Given the description of an element on the screen output the (x, y) to click on. 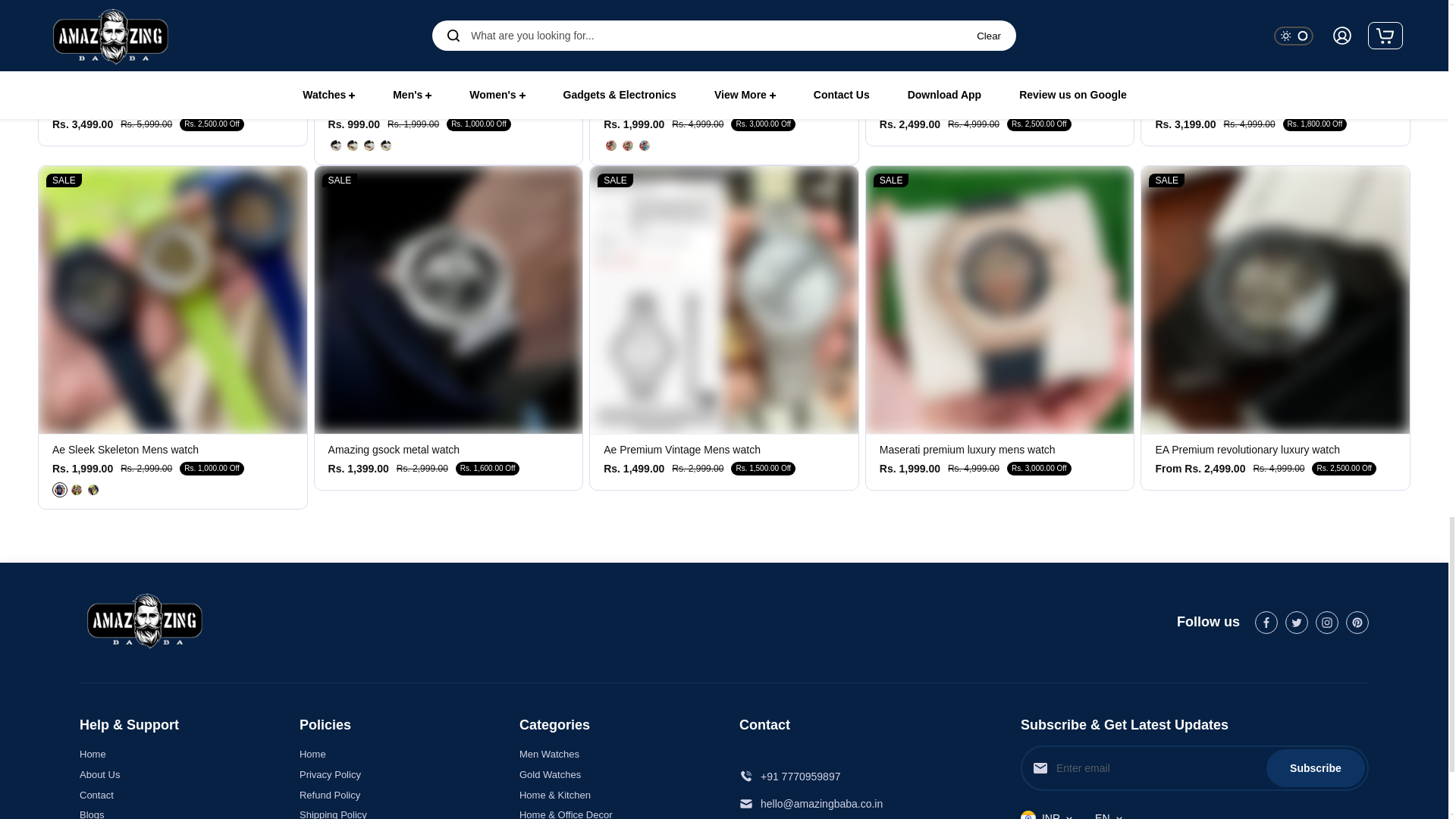
C (369, 145)
Rose Gold (611, 145)
Silver (644, 145)
Blue (59, 489)
Gold (627, 145)
Black (92, 489)
Green (76, 489)
B (352, 145)
D (385, 145)
A (336, 145)
